Given the description of an element on the screen output the (x, y) to click on. 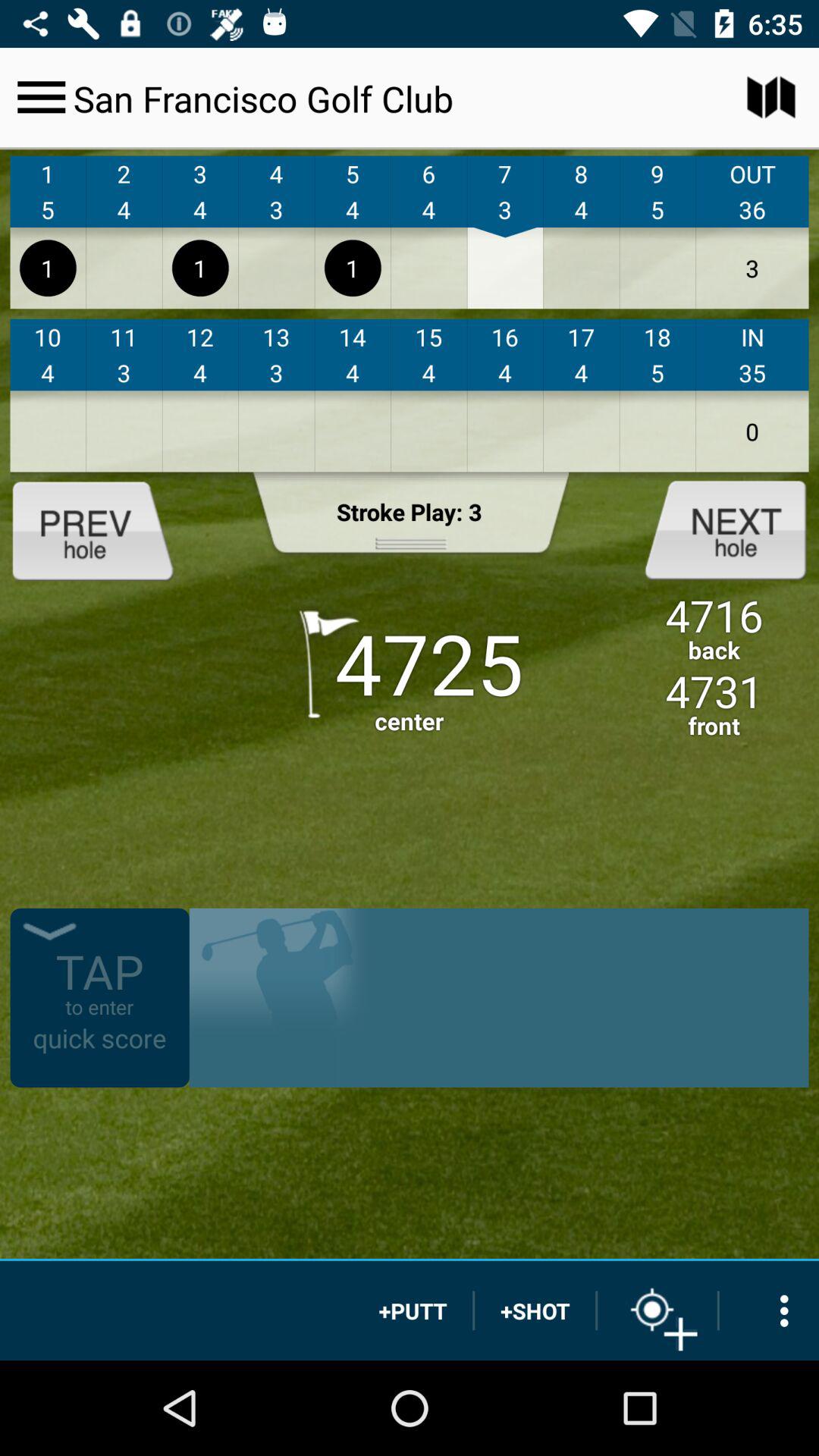
add a target for your next play (657, 1310)
